Given the description of an element on the screen output the (x, y) to click on. 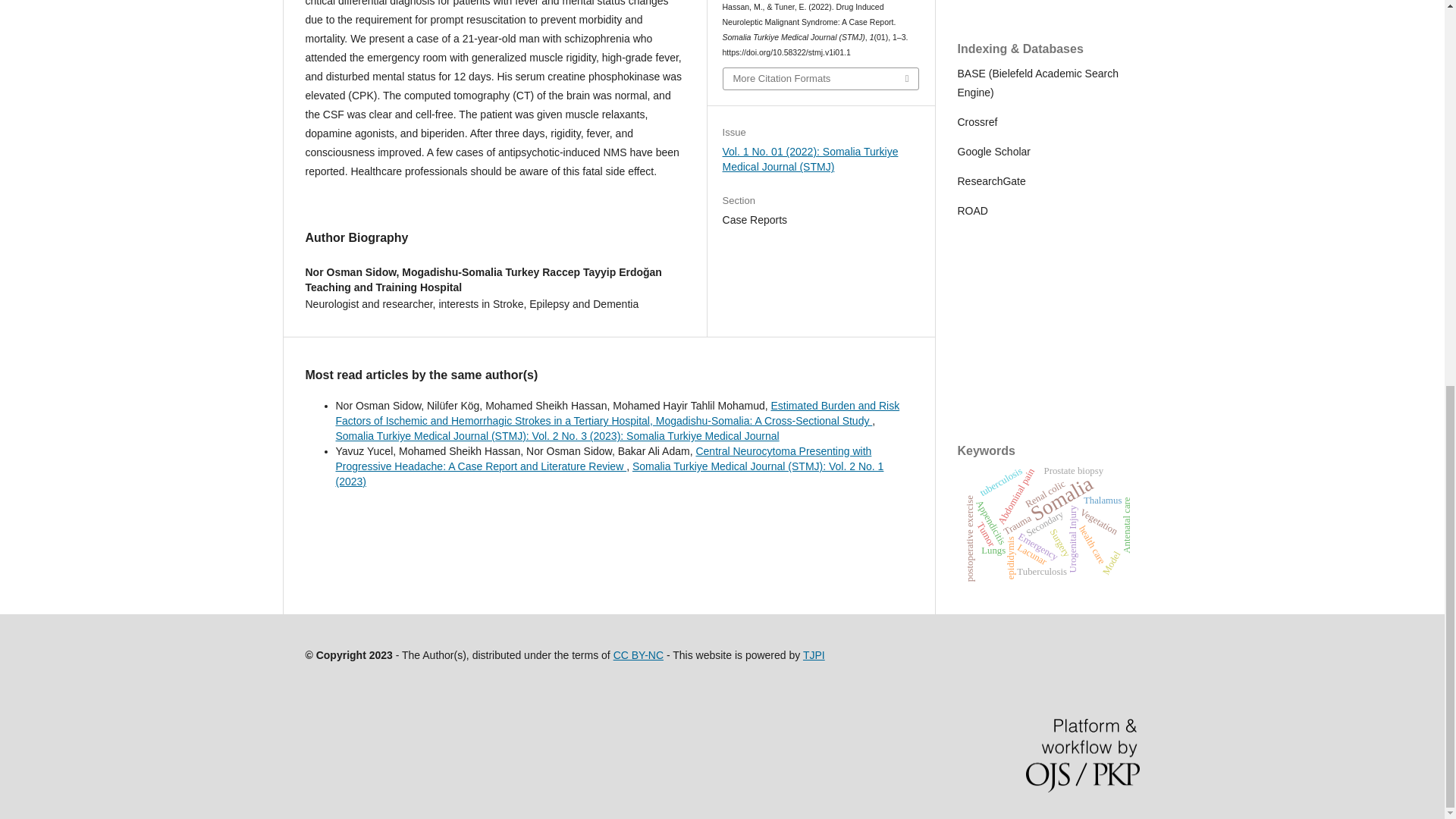
More Citation Formats (820, 78)
CC BY-NC (637, 654)
TJPI (814, 654)
